Given the description of an element on the screen output the (x, y) to click on. 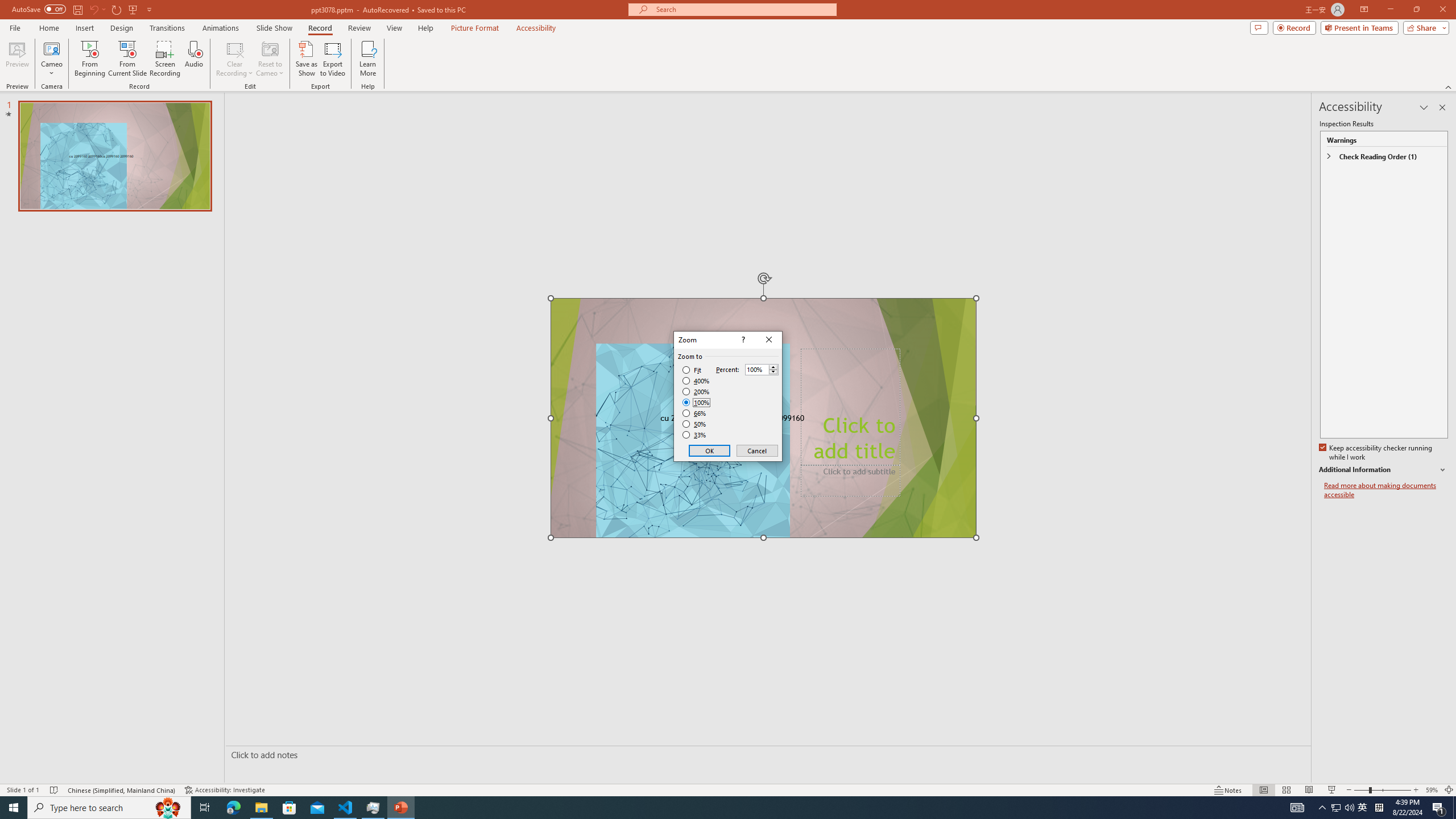
File Explorer - 1 running window (261, 807)
50% (694, 424)
